Given the description of an element on the screen output the (x, y) to click on. 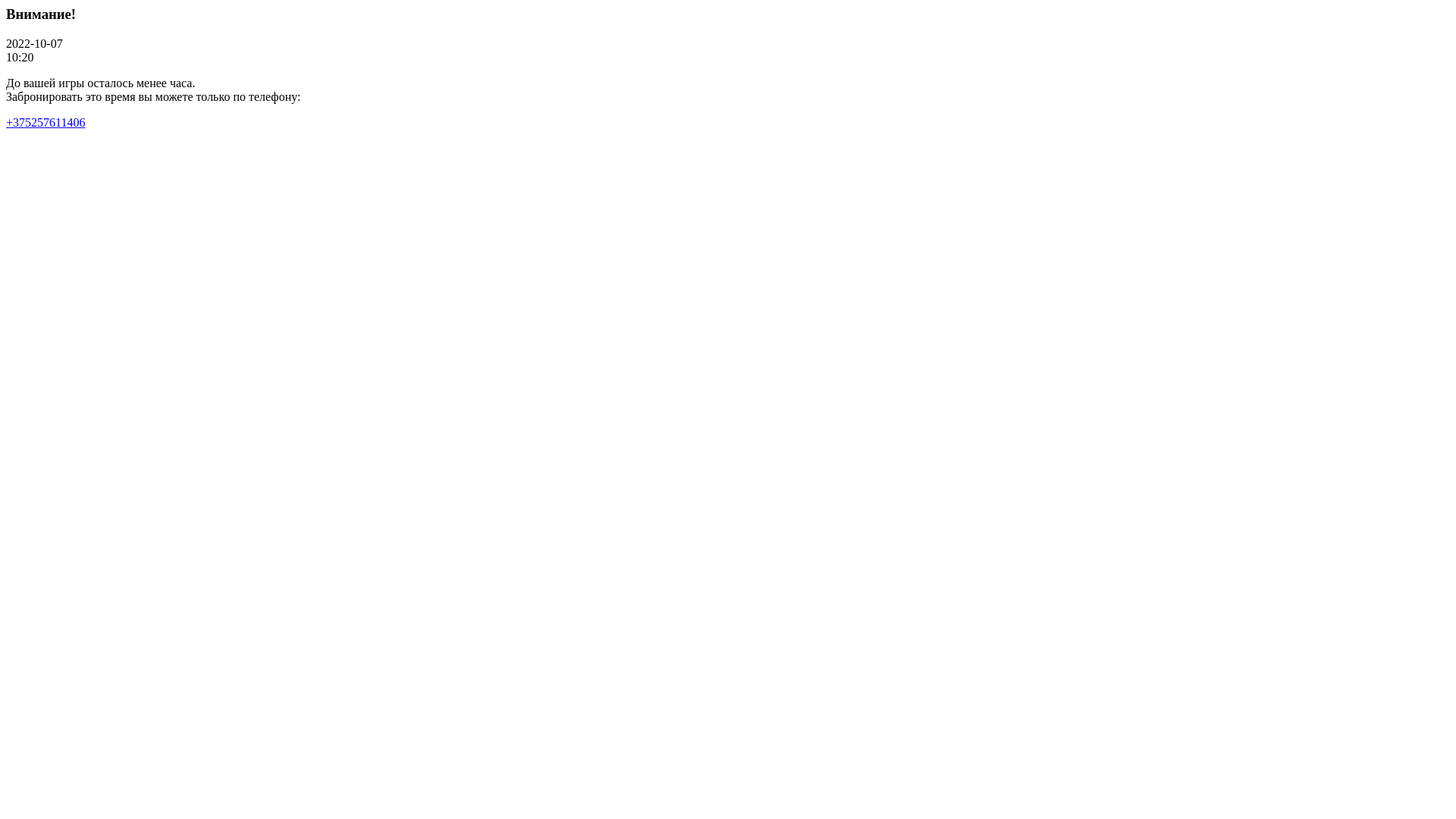
+375257611406 Element type: text (45, 122)
